Given the description of an element on the screen output the (x, y) to click on. 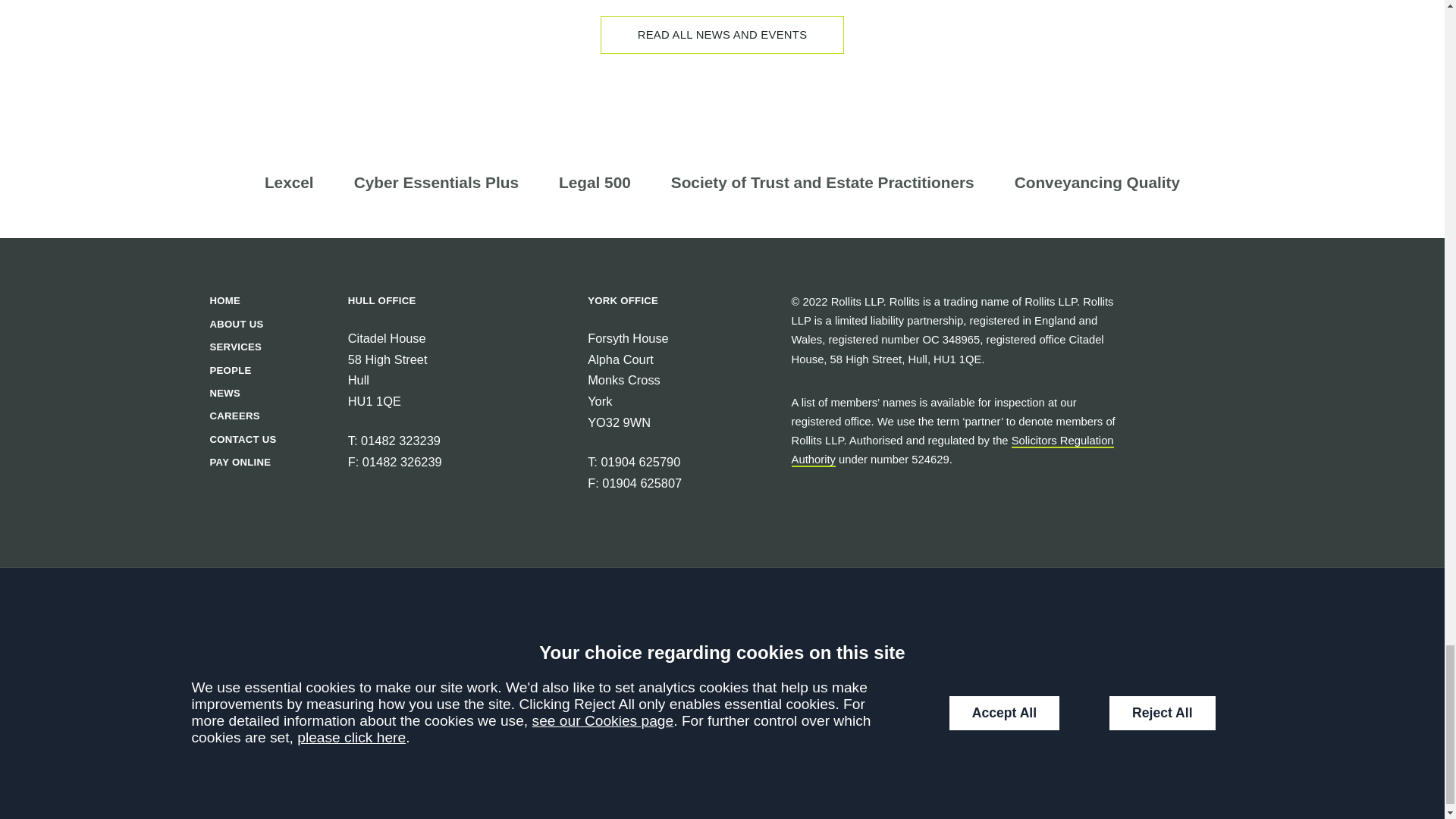
Search the site (345, 725)
